Given the description of an element on the screen output the (x, y) to click on. 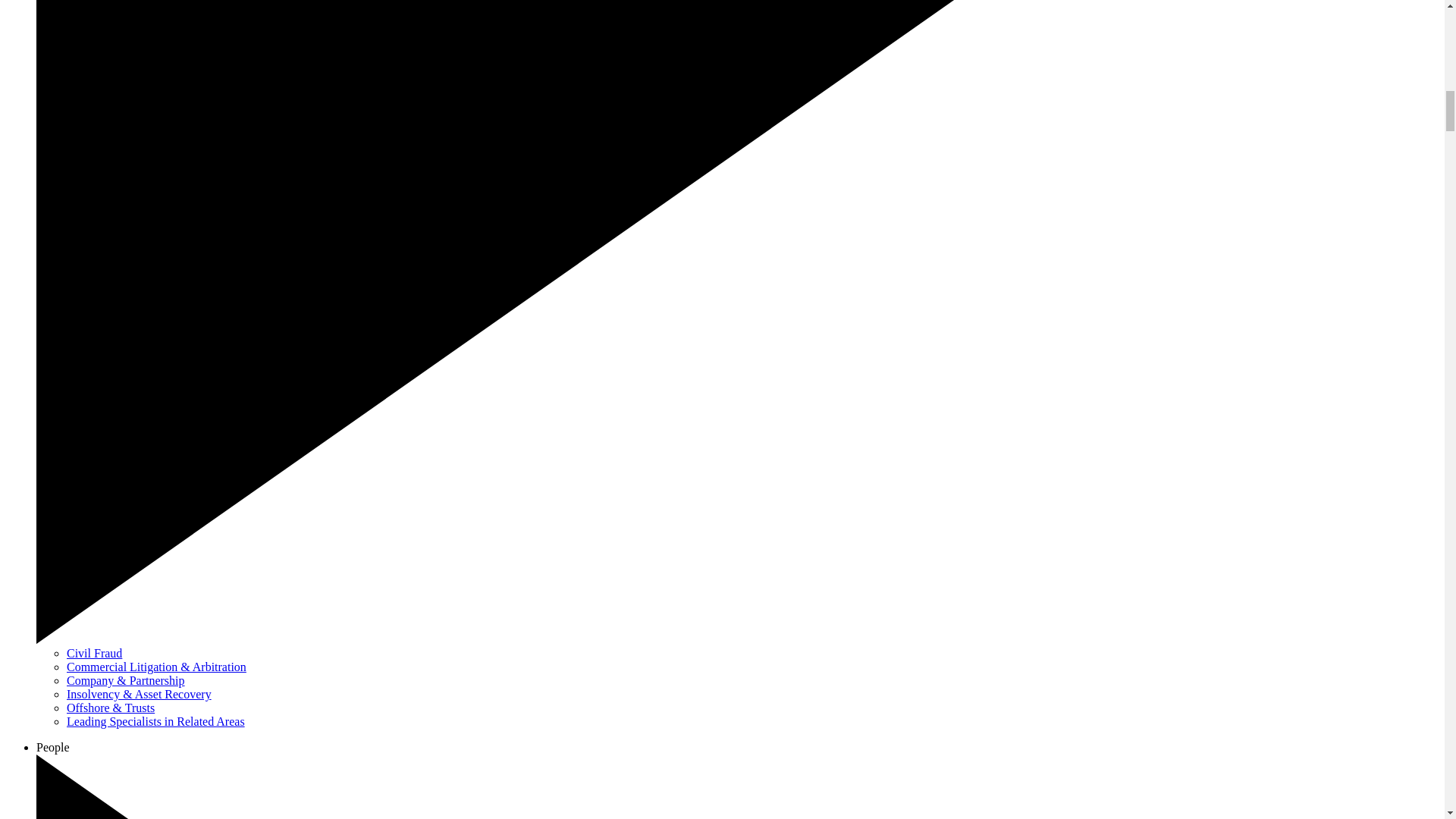
Leading Specialists in Related Areas (155, 721)
Civil Fraud (94, 653)
